Given the description of an element on the screen output the (x, y) to click on. 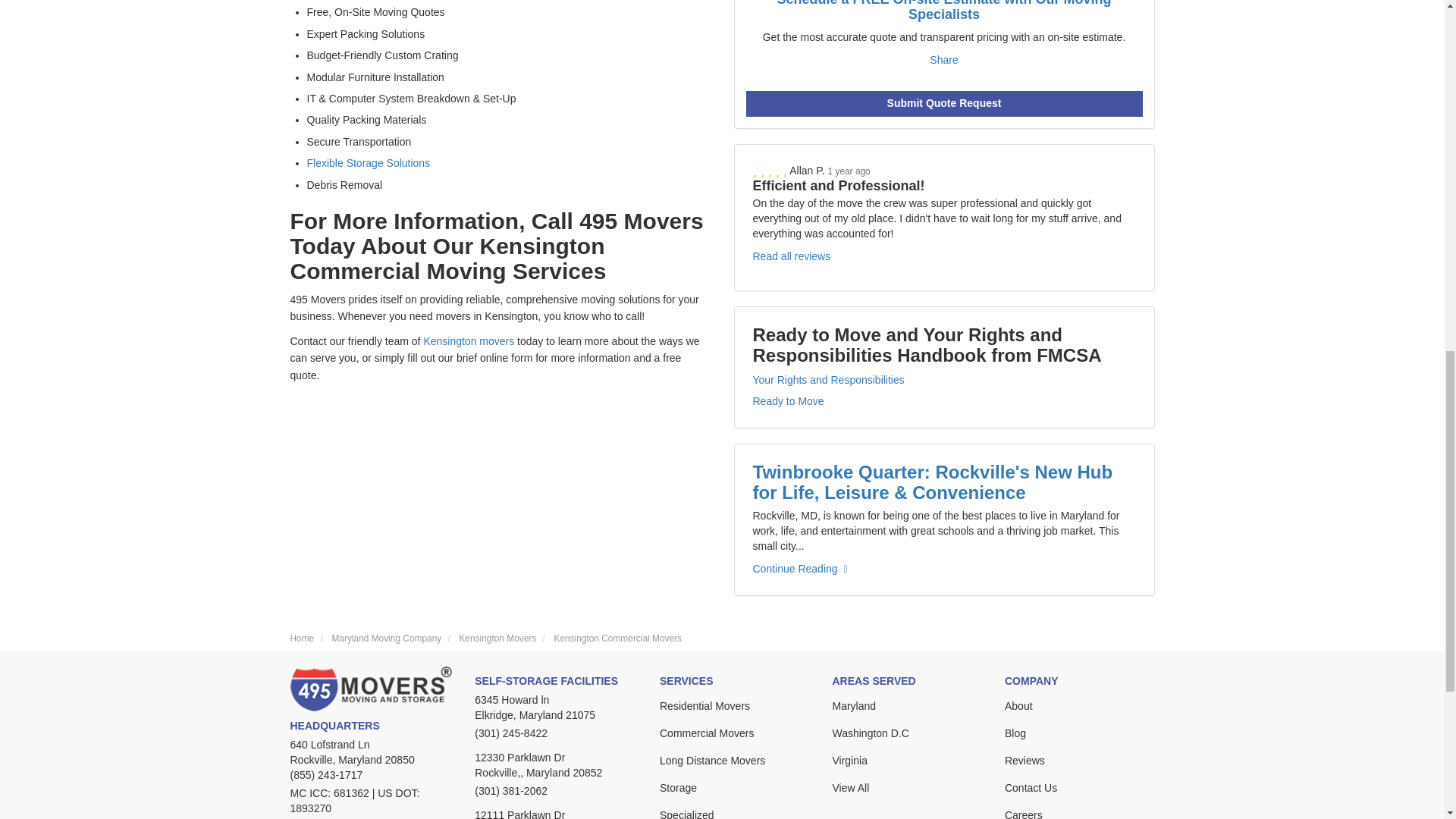
5 Stars (770, 170)
